Given the description of an element on the screen output the (x, y) to click on. 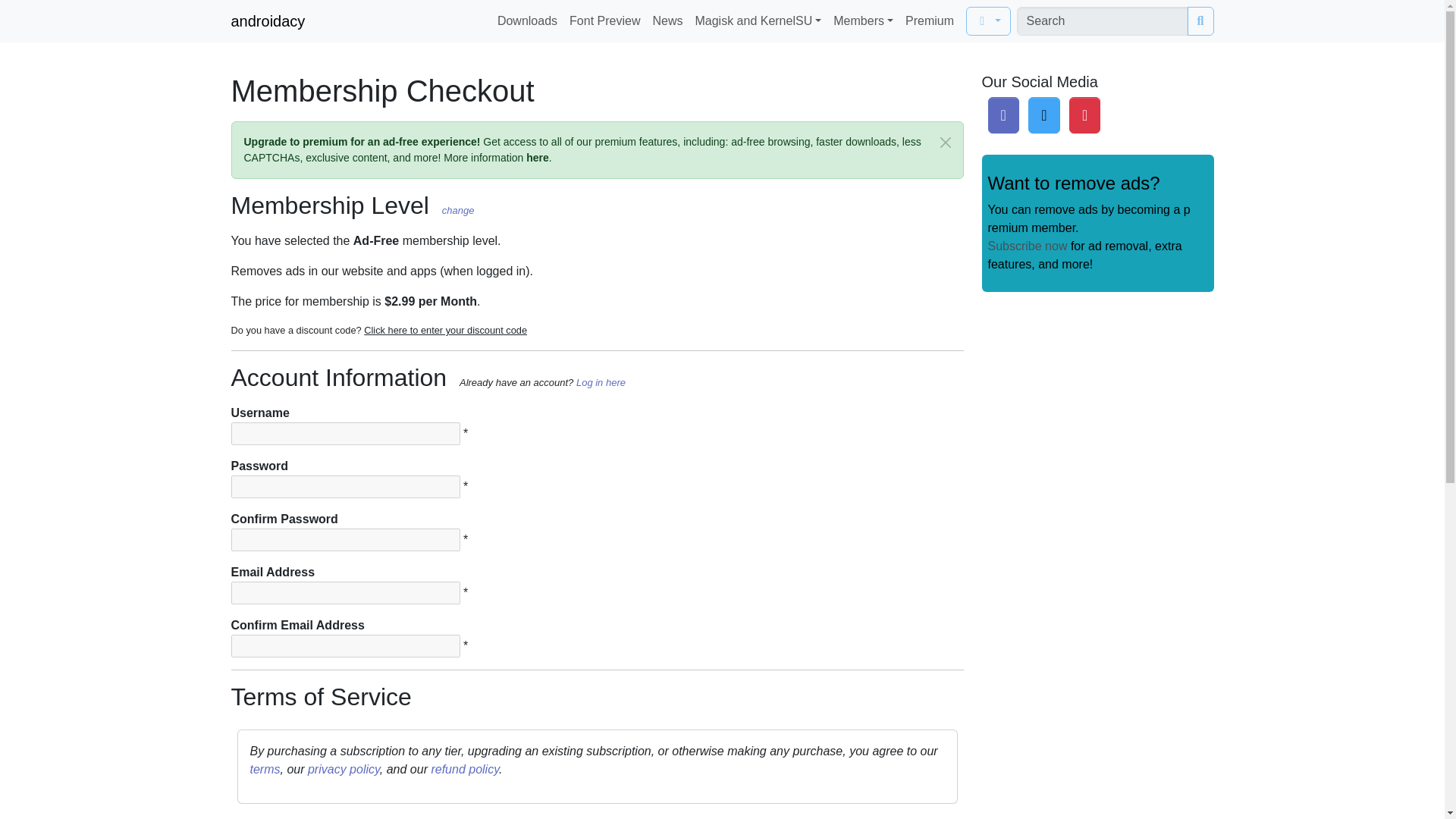
Required Field (465, 645)
Required Field (465, 432)
Magisk and KernelSU (757, 20)
refund policy (464, 768)
terms (265, 768)
Subscribe now (1027, 245)
Search (1201, 21)
Click here to enter your discount code (445, 329)
privacy policy (343, 768)
Toggle theme (988, 21)
Required Field (465, 539)
Required Field (465, 486)
here (536, 157)
Premium (929, 20)
News (667, 20)
